Given the description of an element on the screen output the (x, y) to click on. 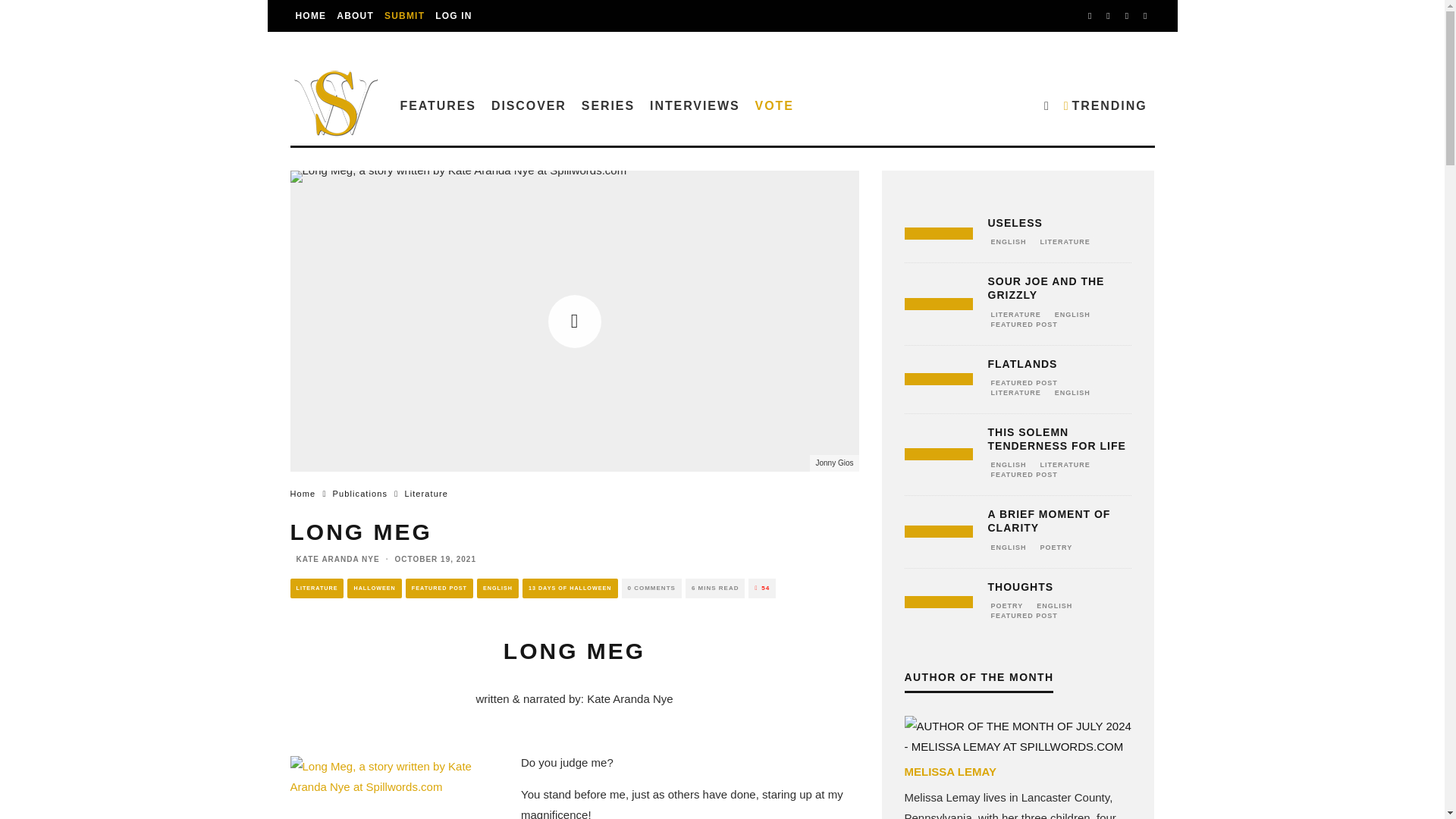
ABOUT (354, 15)
SUBMIT (403, 15)
FEATURES (438, 104)
DISCOVER (528, 104)
LOG IN (453, 15)
HOME (310, 15)
